Given the description of an element on the screen output the (x, y) to click on. 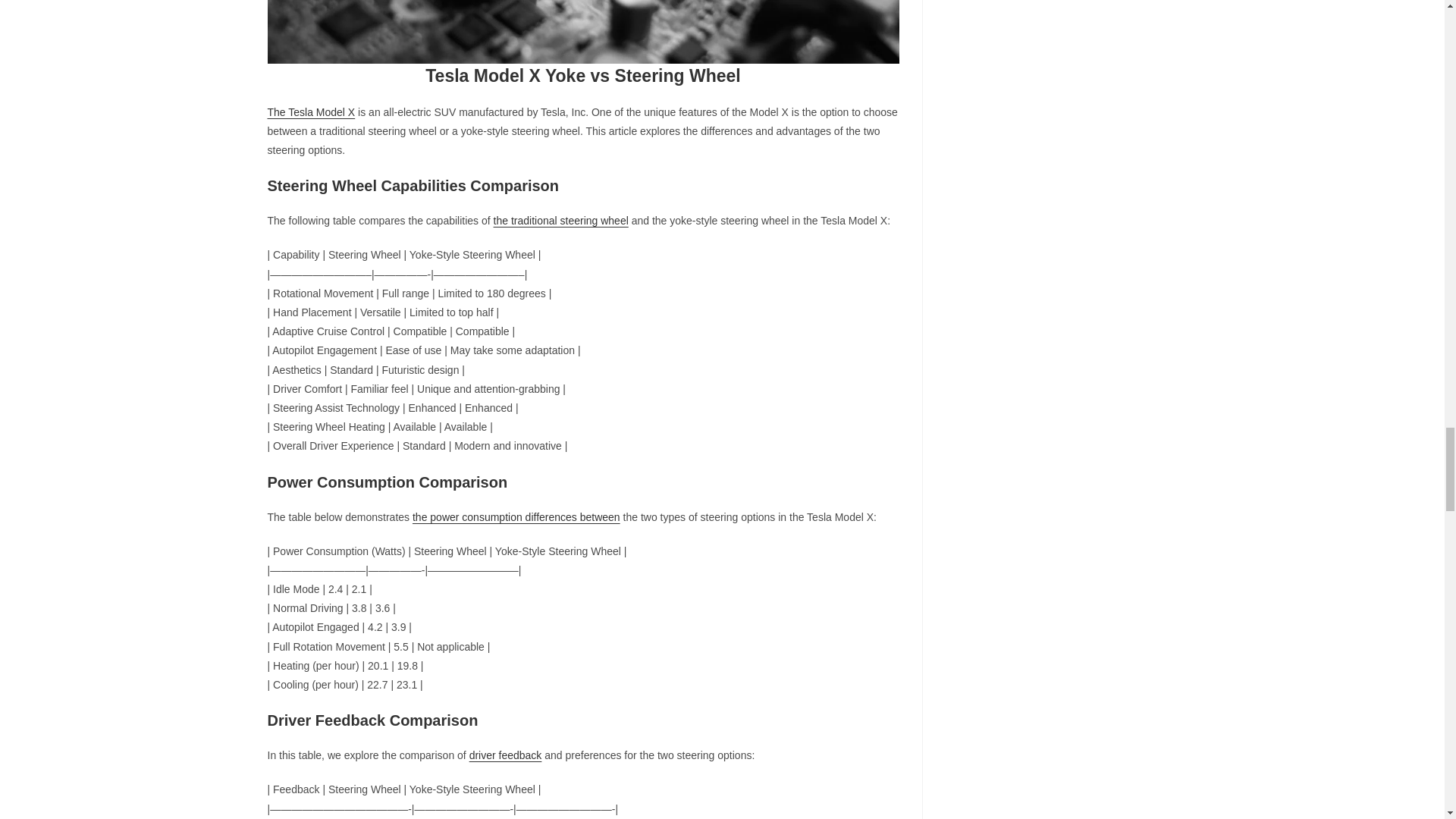
The Tesla Model X (310, 111)
the power consumption differences between (516, 517)
the traditional steering wheel (560, 220)
Tesla Model X Yoke vs Steering Wheel (582, 31)
driver feedback (504, 755)
